Given the description of an element on the screen output the (x, y) to click on. 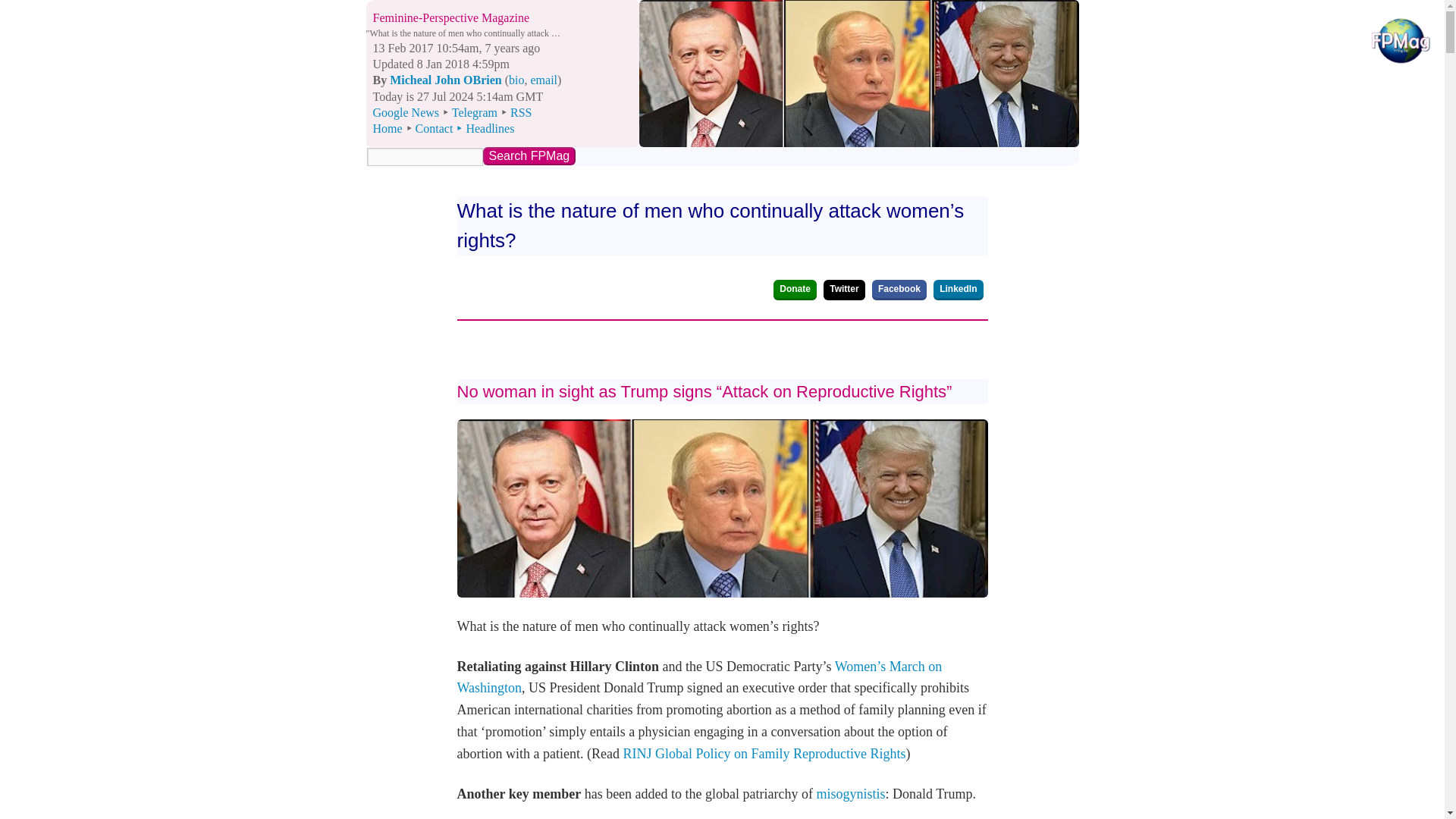
LinkedIn (440, 63)
Facebook (957, 290)
search Feminine Perspective (899, 290)
misogynistis (722, 156)
Article Published on (850, 793)
email (456, 47)
FPMag on Google News (544, 79)
Micheal John OBrien (407, 112)
Home (444, 79)
RSS (387, 128)
Search FPMag (521, 112)
Telegram (528, 156)
Contact (474, 112)
bio (433, 128)
